Given the description of an element on the screen output the (x, y) to click on. 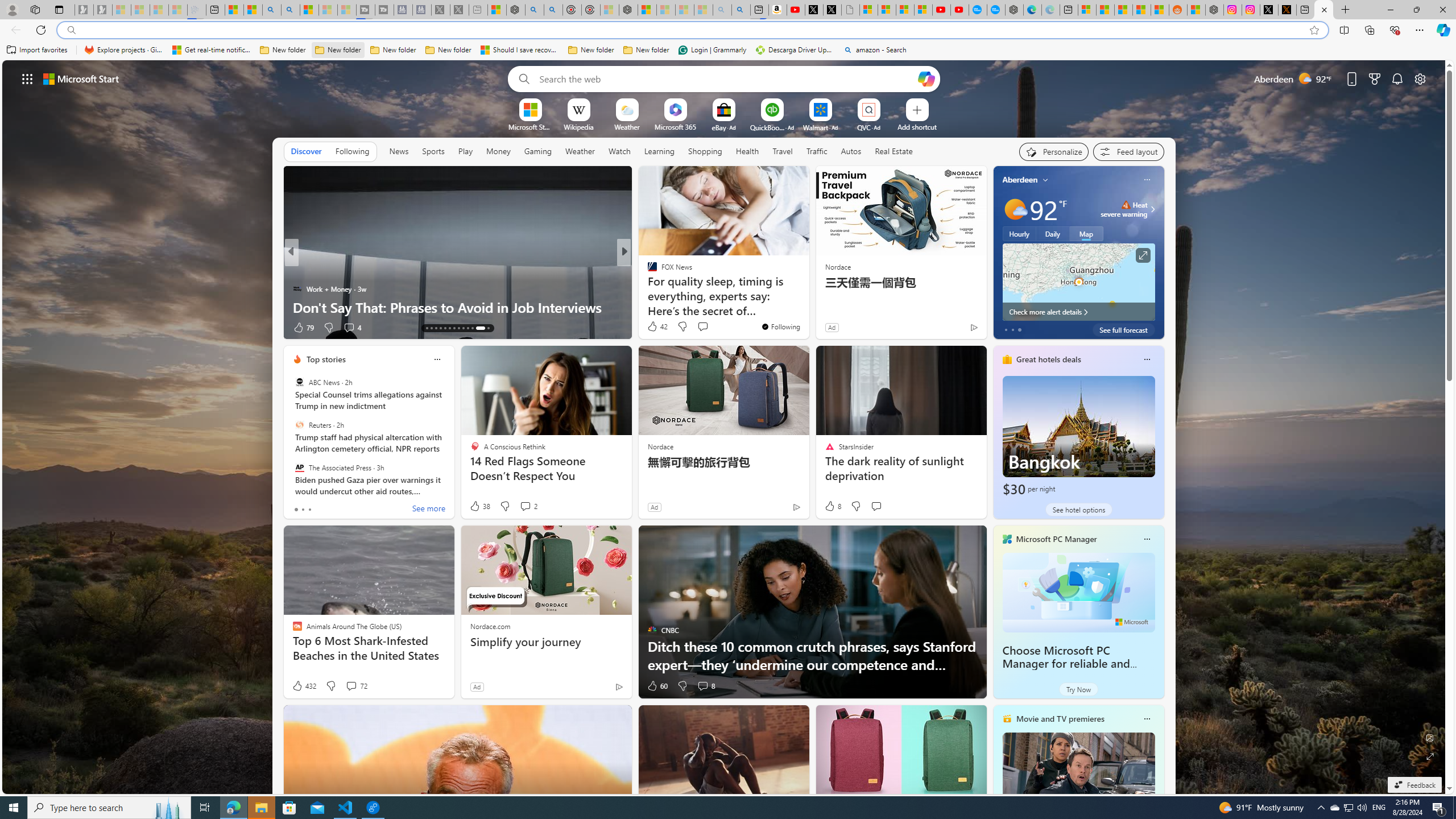
Personalize your feed" (1054, 151)
AutomationID: tab-25 (488, 328)
My location (1045, 179)
Mostly sunny (1014, 208)
